Given the description of an element on the screen output the (x, y) to click on. 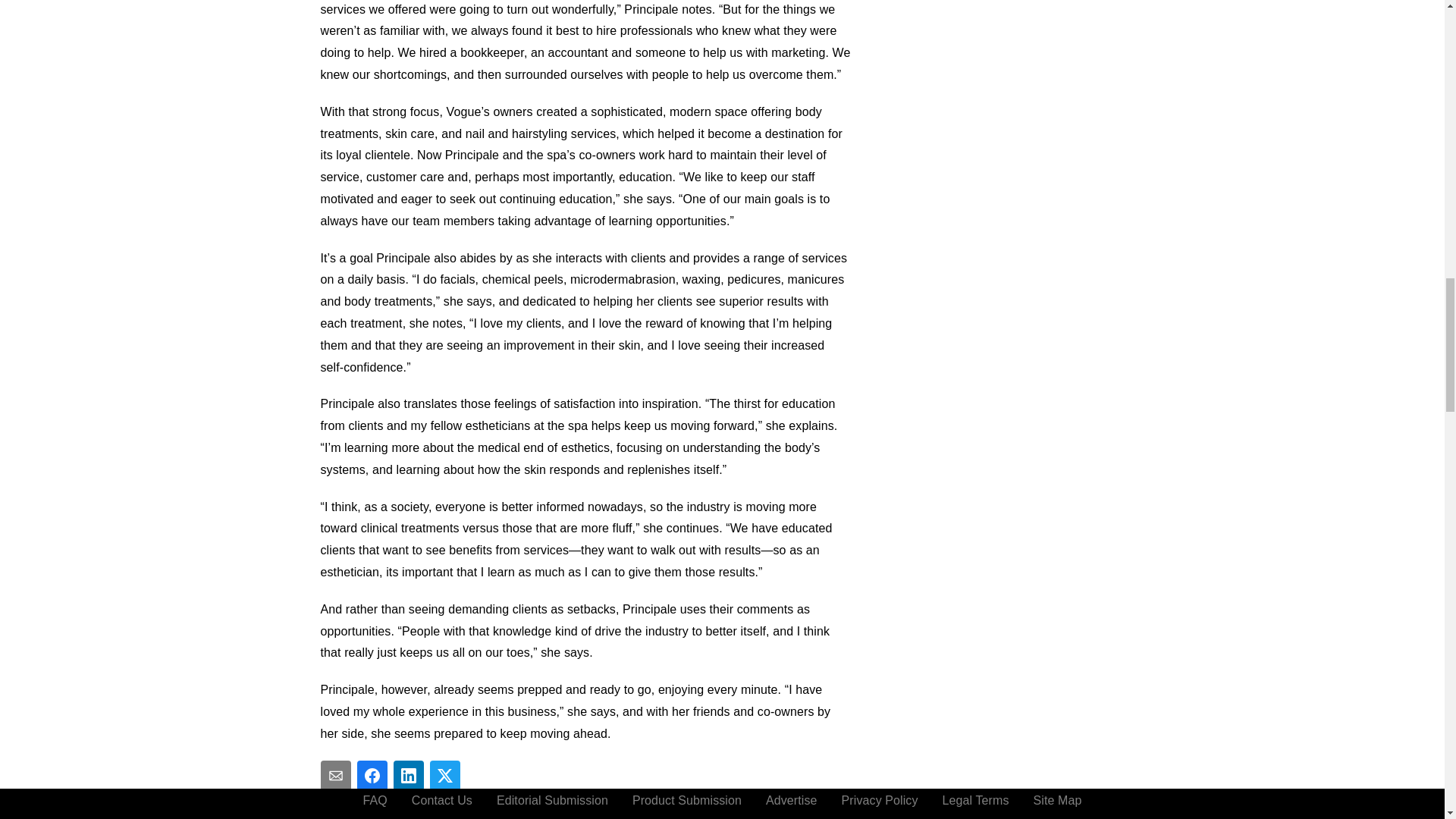
Share To facebook (371, 775)
Share To linkedin (408, 775)
Share To email (335, 775)
Share To twitter (444, 775)
